Given the description of an element on the screen output the (x, y) to click on. 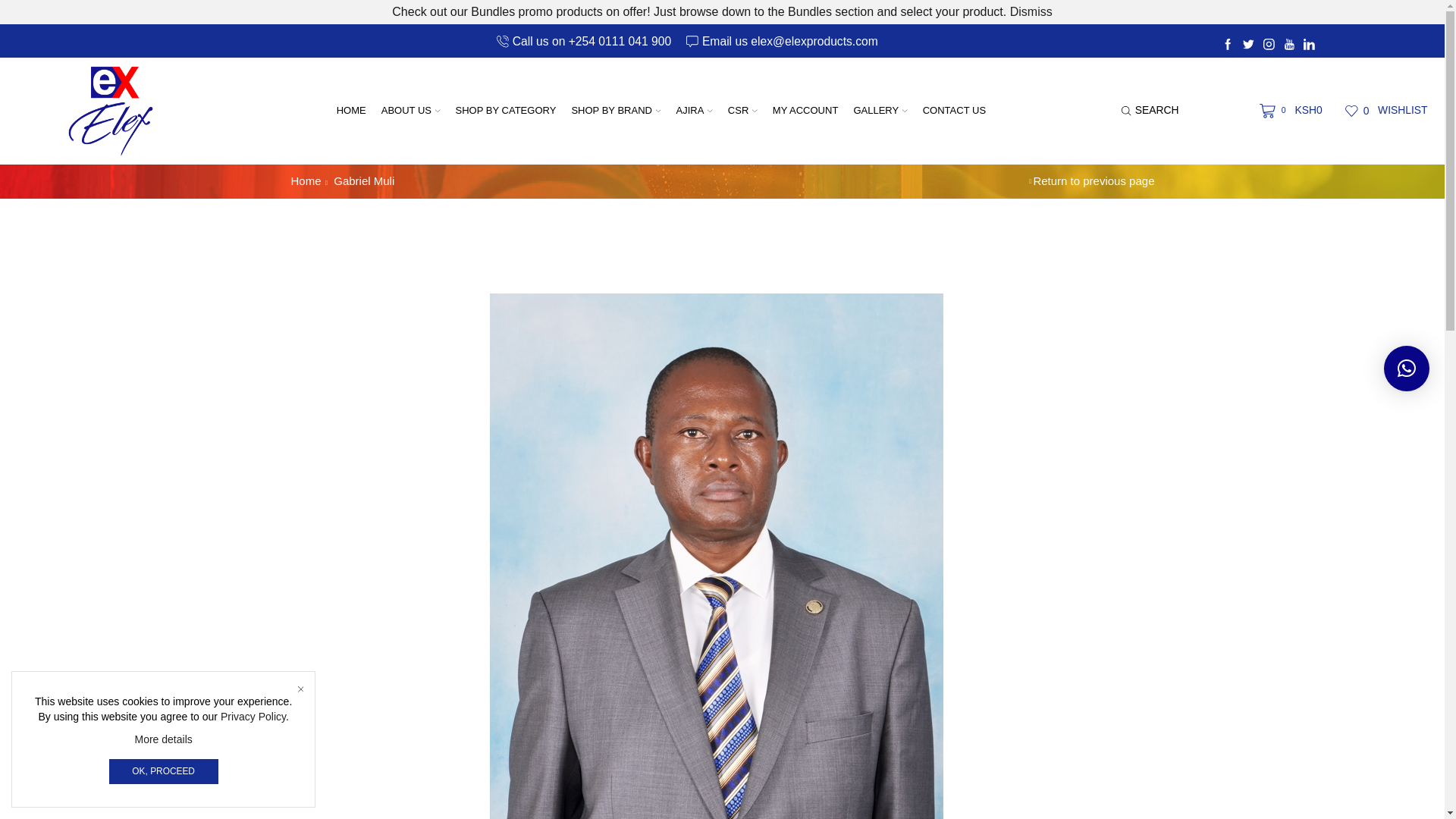
ABOUT US (411, 111)
HOME (351, 111)
SHOP BY CATEGORY (506, 111)
Dismiss (1031, 11)
SHOP BY BRAND (615, 111)
